Given the description of an element on the screen output the (x, y) to click on. 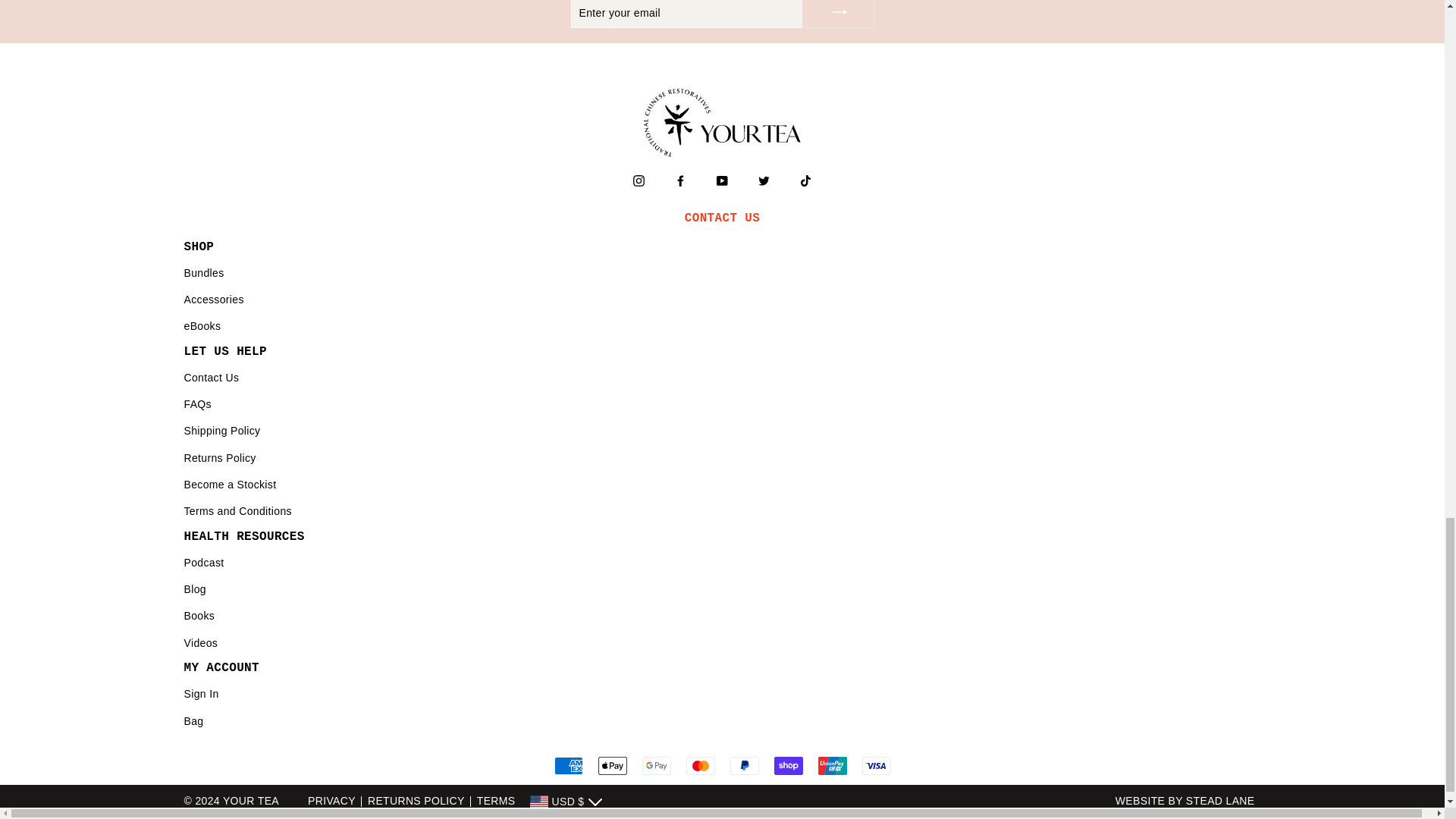
Shop Pay (787, 765)
Mastercard (699, 765)
PayPal (743, 765)
American Express (567, 765)
Apple Pay (611, 765)
Google Pay (655, 765)
